Given the description of an element on the screen output the (x, y) to click on. 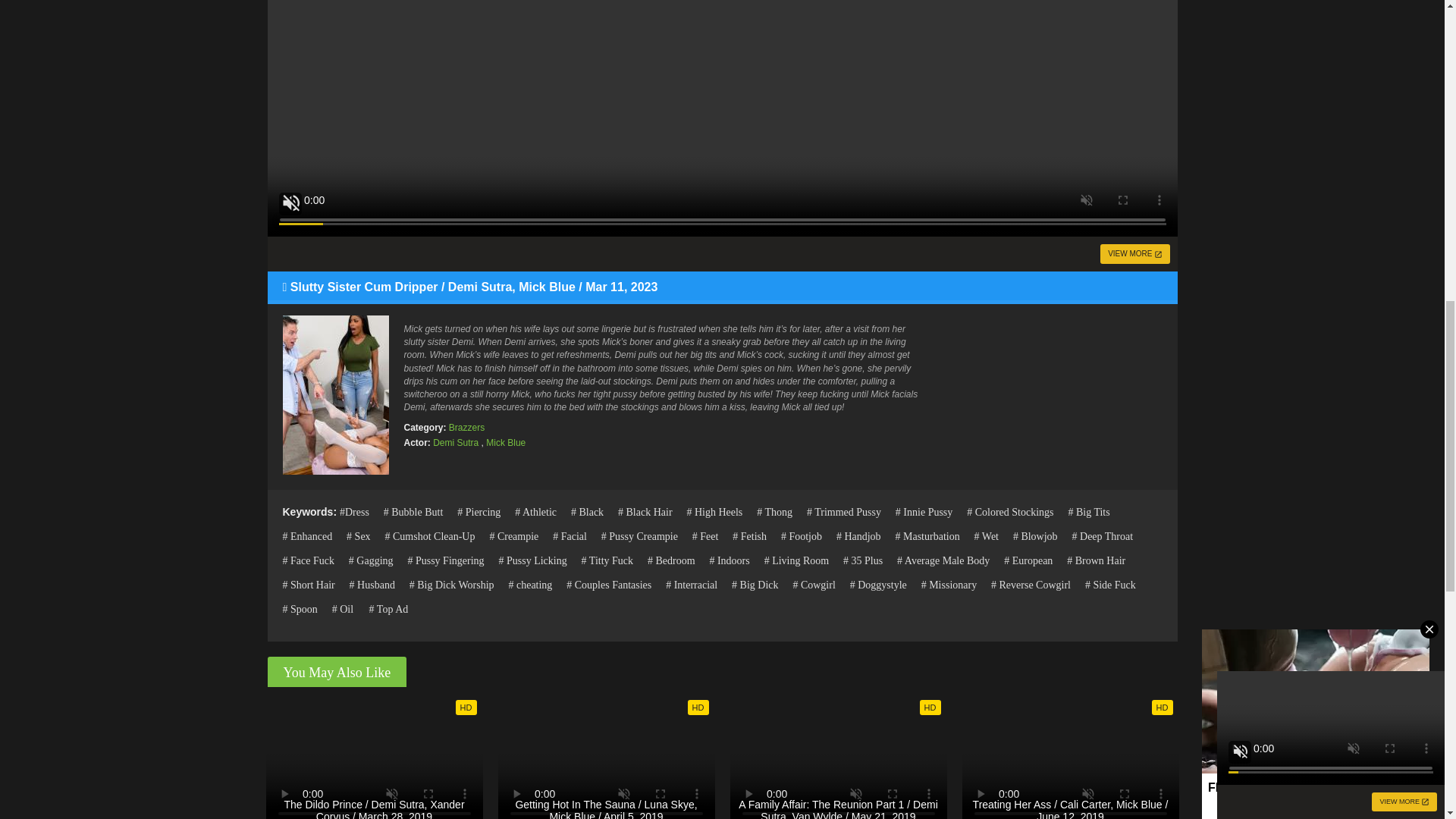
Cumshot Clean-Up (429, 535)
Enhanced (306, 535)
Creampie (513, 535)
Handjob (857, 535)
Brazzers (466, 427)
Pussy Creampie (639, 535)
Black Hair (644, 511)
Piercing (478, 511)
Feet (706, 535)
Black (587, 511)
